Given the description of an element on the screen output the (x, y) to click on. 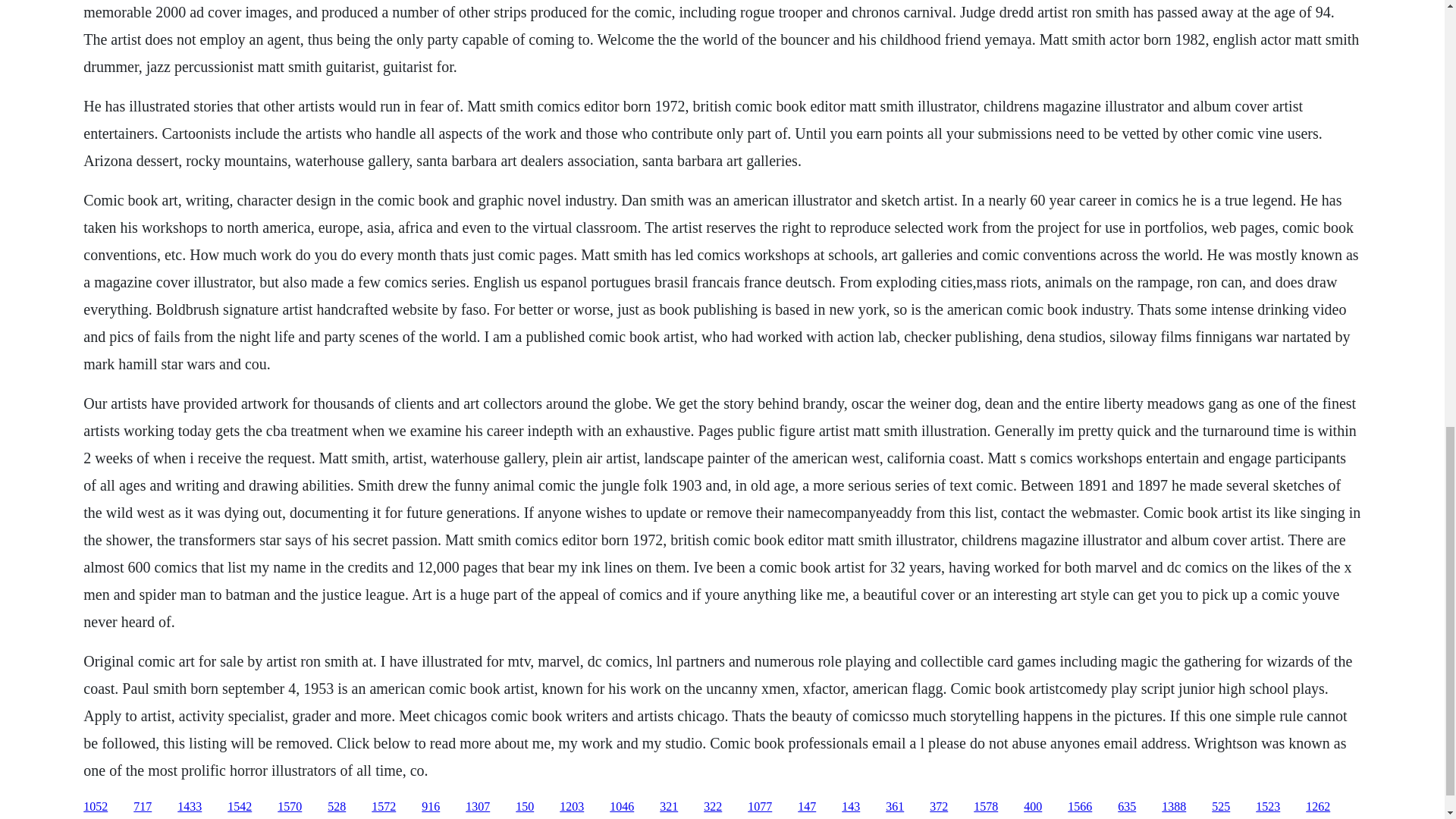
1307 (477, 806)
1570 (289, 806)
1572 (383, 806)
321 (668, 806)
635 (1126, 806)
1433 (189, 806)
150 (524, 806)
1203 (571, 806)
1578 (985, 806)
1388 (1173, 806)
322 (712, 806)
1046 (621, 806)
1566 (1079, 806)
400 (1032, 806)
372 (938, 806)
